Given the description of an element on the screen output the (x, y) to click on. 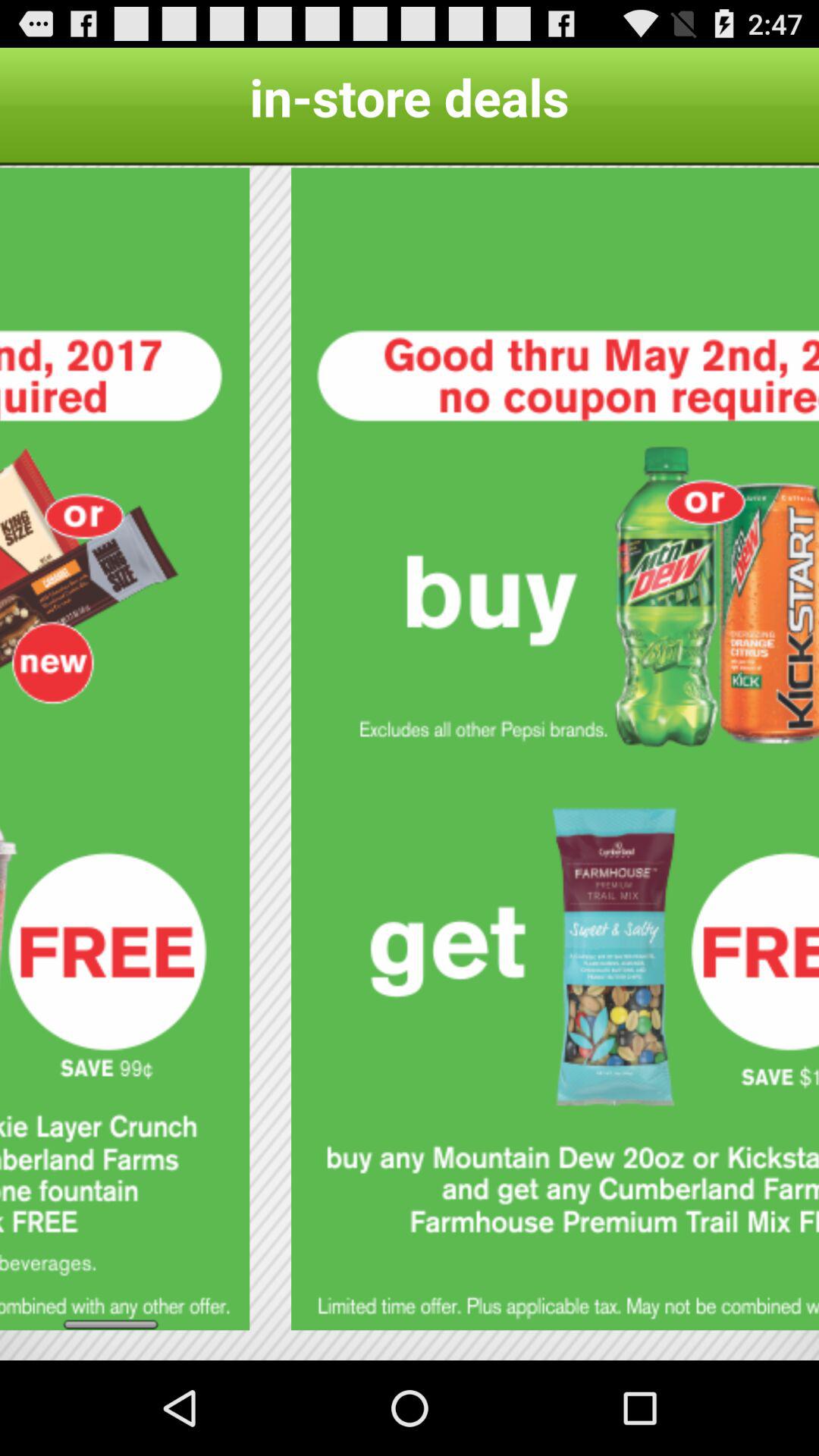
redeem coupon (555, 748)
